Given the description of an element on the screen output the (x, y) to click on. 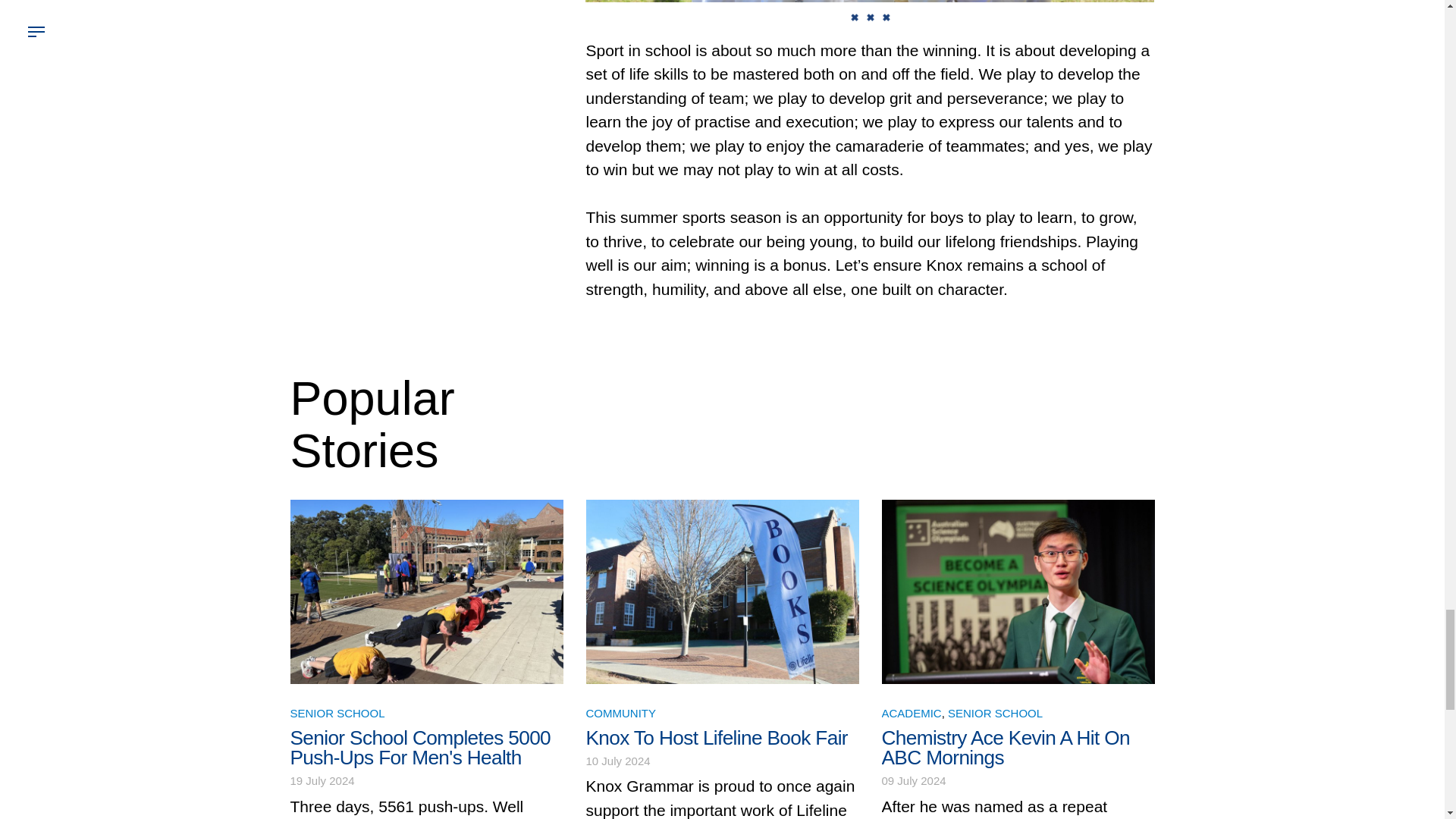
ACADEMIC (910, 712)
SENIOR SCHOOL (994, 712)
SENIOR SCHOOL (336, 712)
Chemistry Ace Kevin A Hit On ABC Mornings (1004, 747)
Senior School Completes 5000 Push-Ups For Men'S Health (419, 747)
COMMUNITY (620, 712)
Knox To Host Lifeline Book Fair (716, 737)
